Given the description of an element on the screen output the (x, y) to click on. 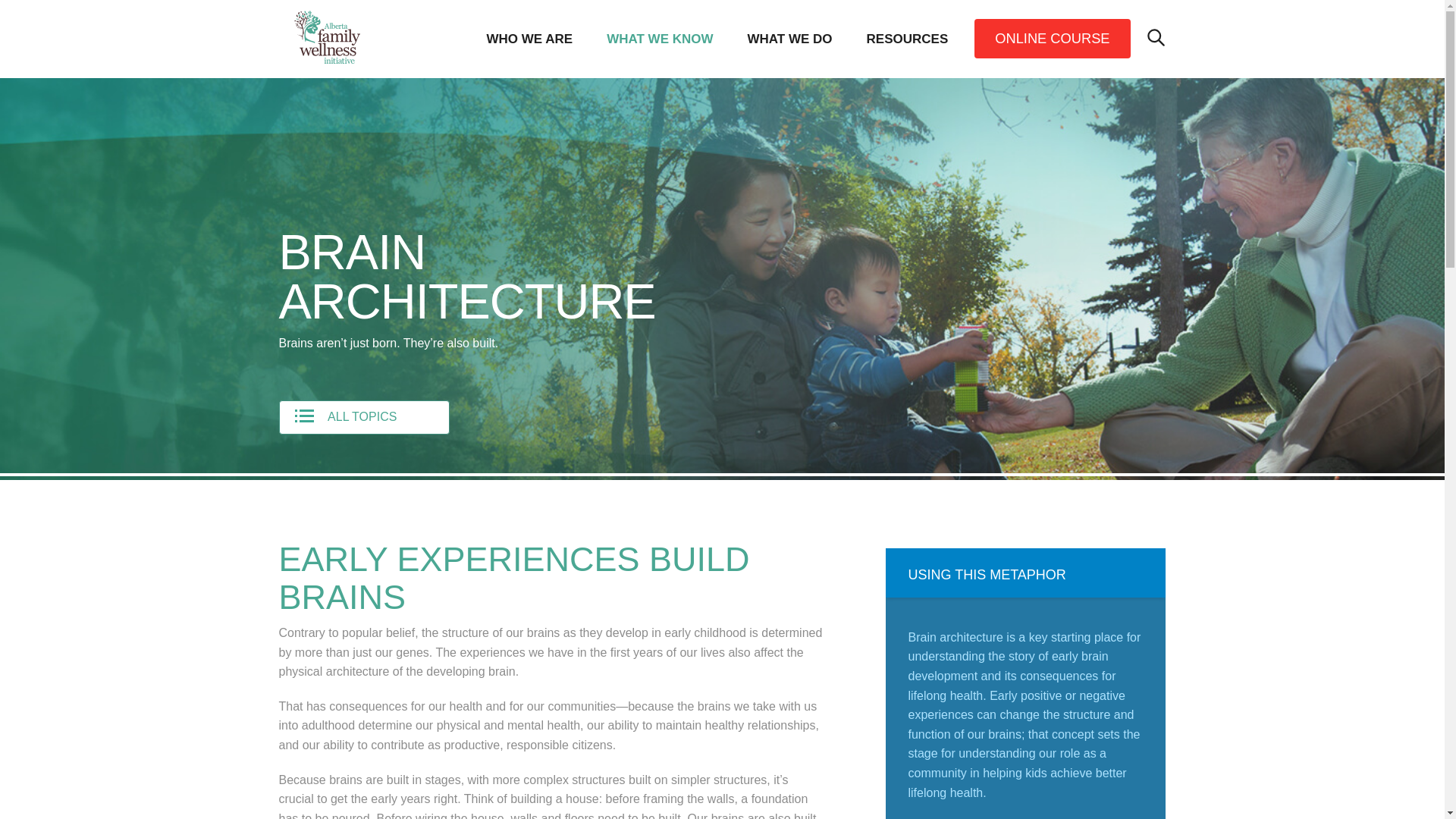
WHO WE ARE (528, 38)
WHAT WE KNOW (659, 38)
WHAT WE DO (790, 38)
